Given the description of an element on the screen output the (x, y) to click on. 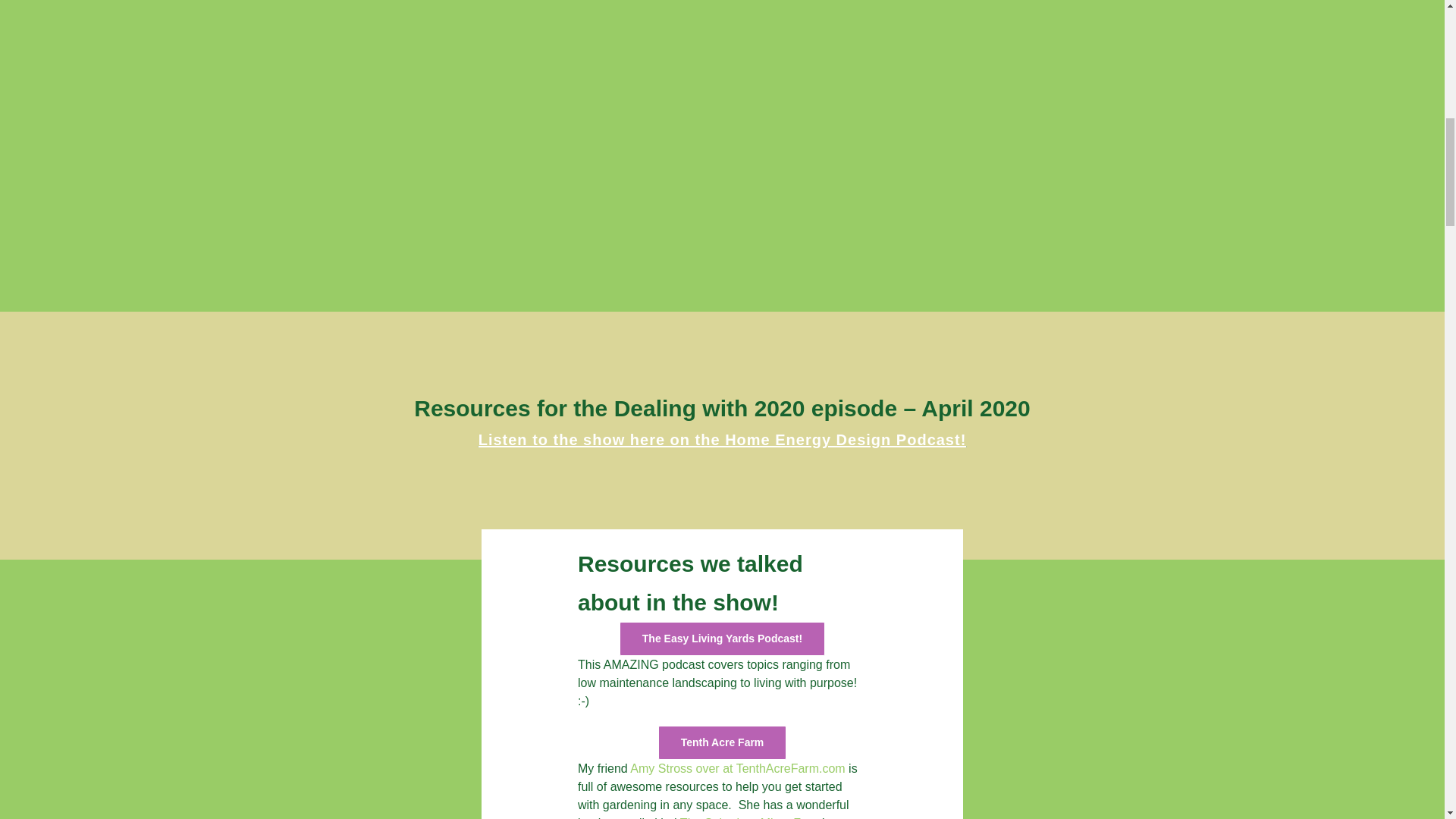
Amy Stross over at TenthAcreFarm.com (737, 768)
The Easy Living Yards Podcast! (722, 638)
Listen to the show here on the Home Energy Design Podcast! (722, 439)
The Suburban Micro Farm (750, 817)
Tenth Acre Farm (722, 742)
